Given the description of an element on the screen output the (x, y) to click on. 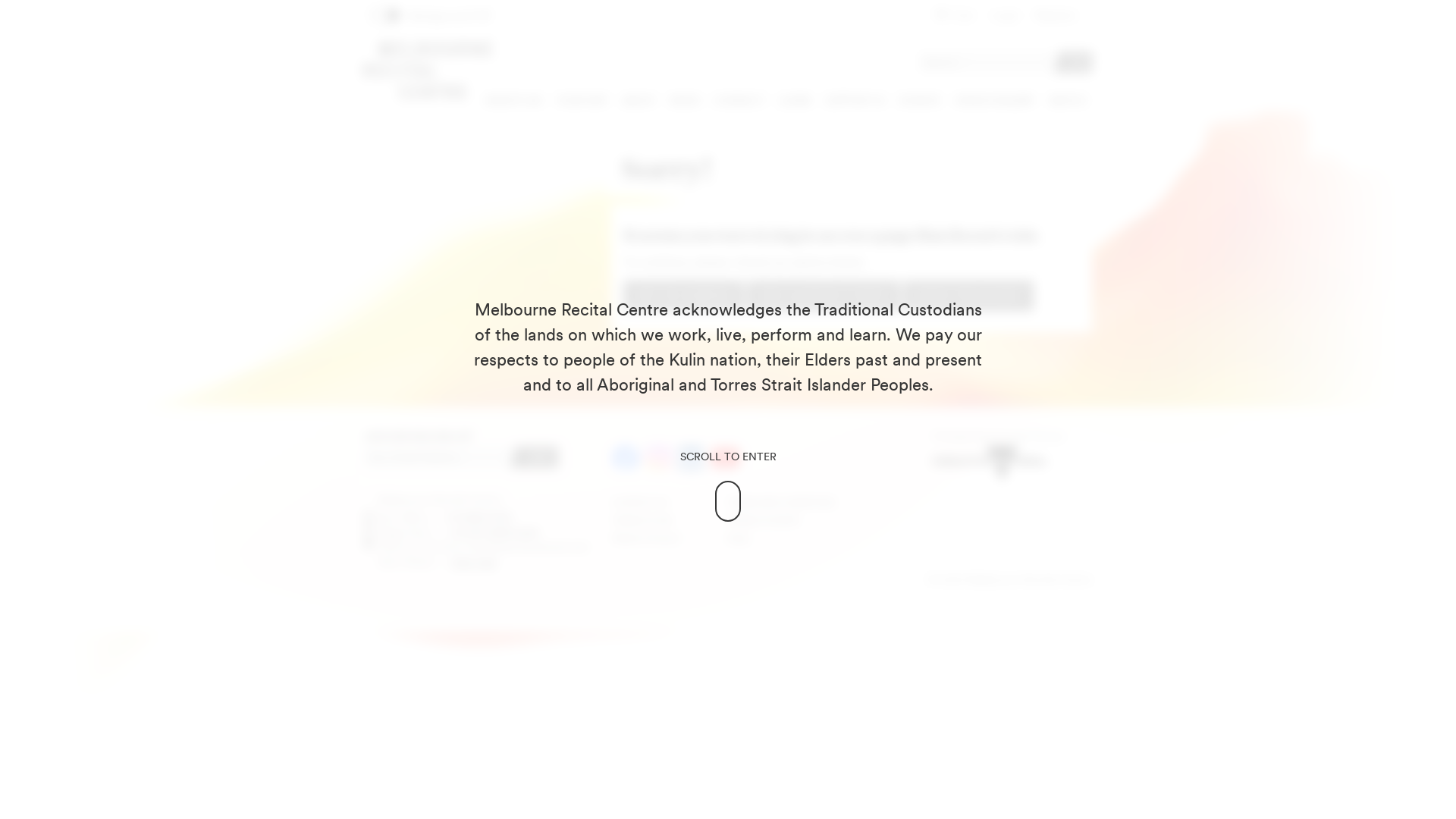
PRIVACY POLICY Element type: text (645, 537)
WHAT'S ON Element type: text (513, 100)
ABOUT Element type: text (638, 100)
Arts Victoria Element type: text (989, 462)
YOUR VISIT Element type: text (581, 100)
DONATE Element type: text (919, 100)
FAQS Element type: text (737, 537)
LinkedIn Element type: text (692, 457)
VISIT THE HOMEPAGE Element type: text (683, 295)
Go Element type: text (1075, 61)
TERMS AND CONDITIONS Element type: text (780, 501)
NEWS Element type: text (684, 100)
CONTACT US Element type: text (639, 501)
SUPPORT US Element type: text (854, 100)
WATCH Element type: text (1066, 100)
Melbourne Recital Centre Element type: text (428, 71)
Join Element type: text (536, 456)
TERMS OF USE Element type: text (641, 519)
YouTube Element type: text (725, 457)
Made Media Ltd. Element type: text (1091, 430)
Facebook Element type: text (627, 457)
TERMS OF ENTRY Element type: text (762, 519)
SEARCH FOR AN EVENT Element type: text (968, 295)
view map Element type: text (473, 561)
Click to close Acknowledgement of Country Element type: text (728, 446)
CONNECT Element type: text (738, 100)
VIEW CALENDAR OF EVENTS Element type: text (823, 295)
VENUE ENQUIRY Element type: text (994, 100)
Instagram Element type: text (660, 457)
LEARN Element type: text (794, 100)
Join Element type: hover (536, 456)
